Given the description of an element on the screen output the (x, y) to click on. 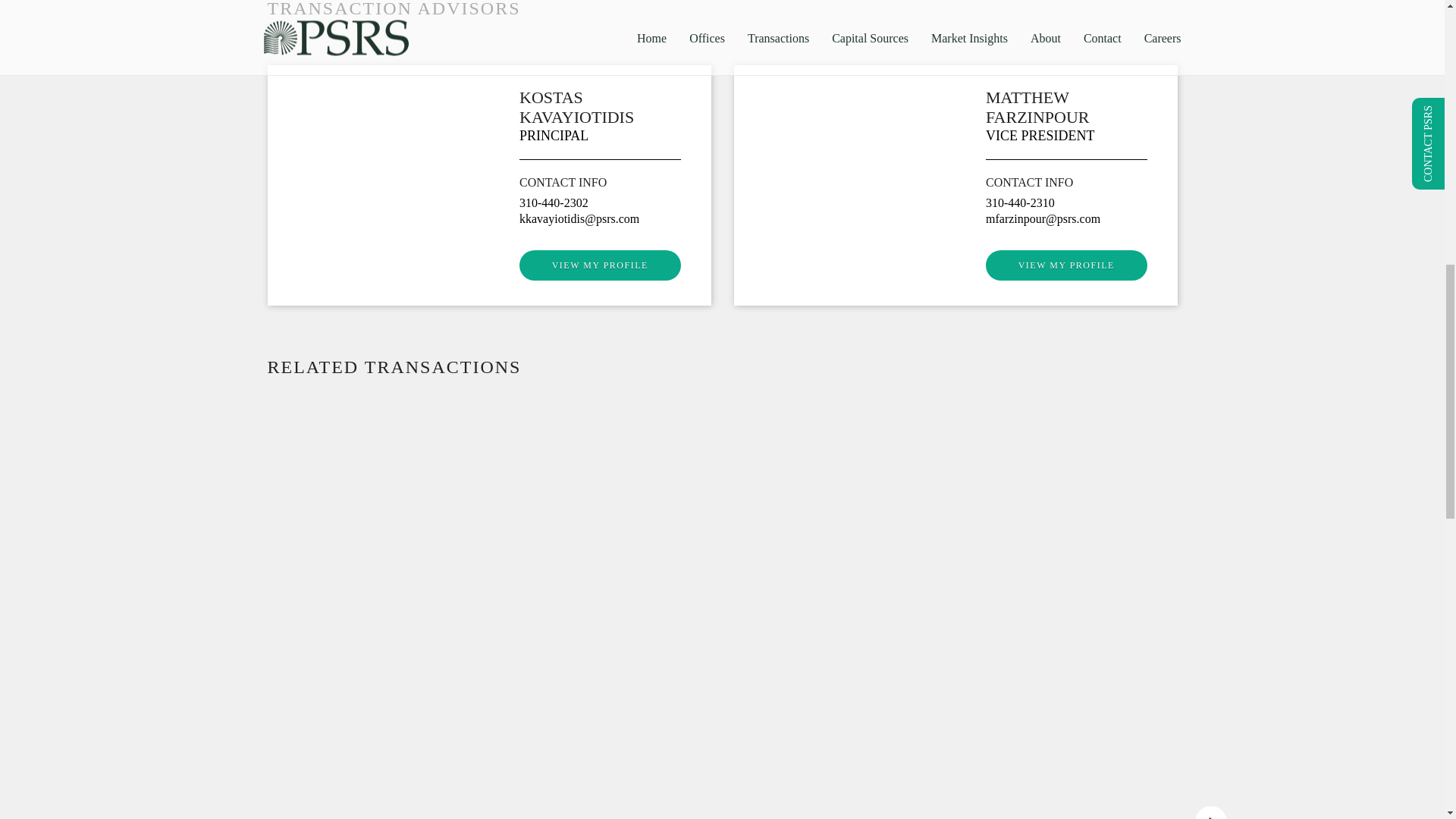
310-440-2310 (1019, 202)
310-440-2302 (553, 202)
VIEW MY PROFILE (1066, 265)
KOSTAS KAVAYIOTIDIS (576, 106)
VIEW MY PROFILE (600, 265)
VIEW MY PROFILE (1066, 265)
VIEW MY PROFILE (600, 265)
MATTHEW FARZINPOUR (1037, 106)
